Given the description of an element on the screen output the (x, y) to click on. 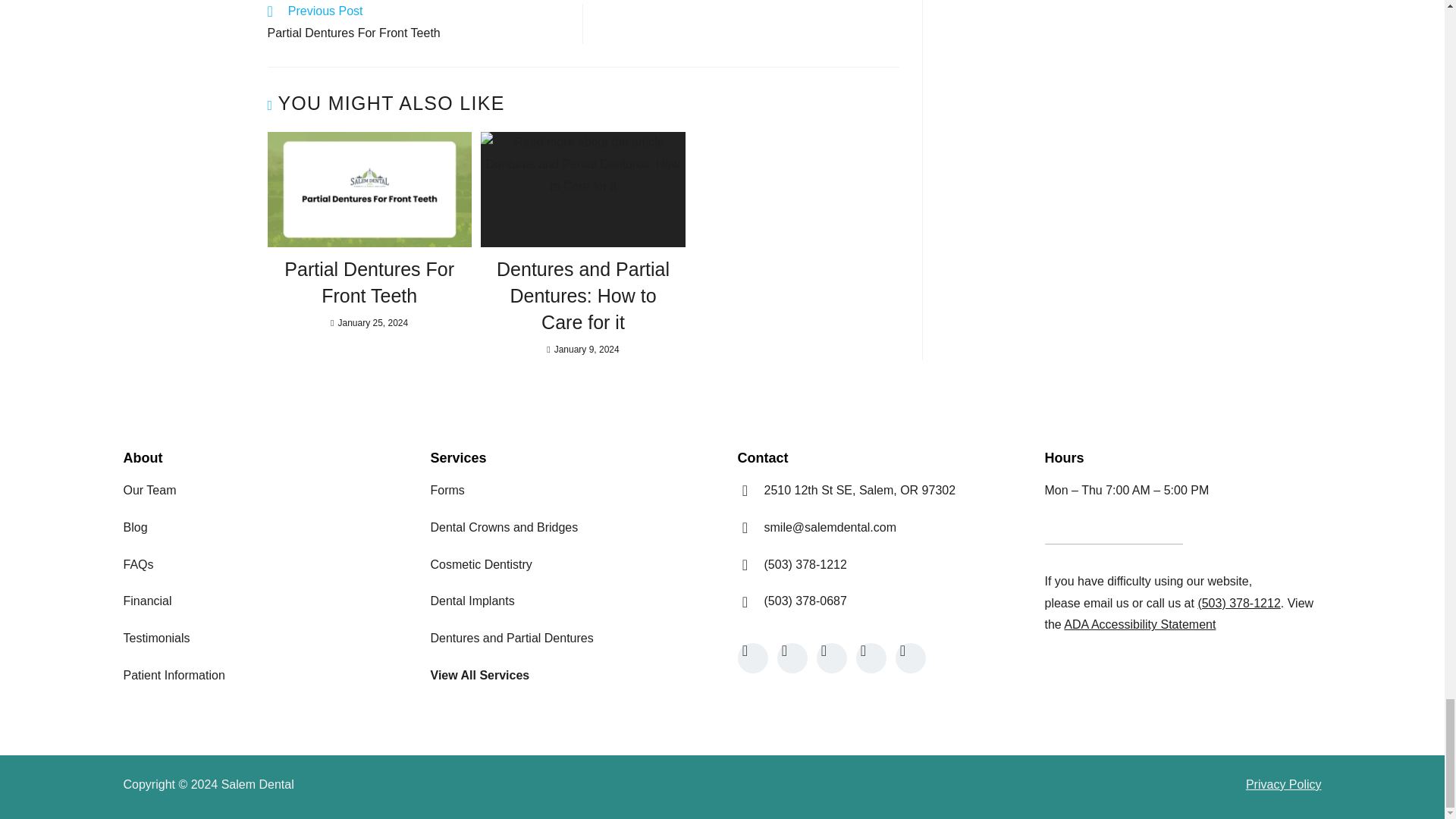
Contact (1106, 603)
